Given the description of an element on the screen output the (x, y) to click on. 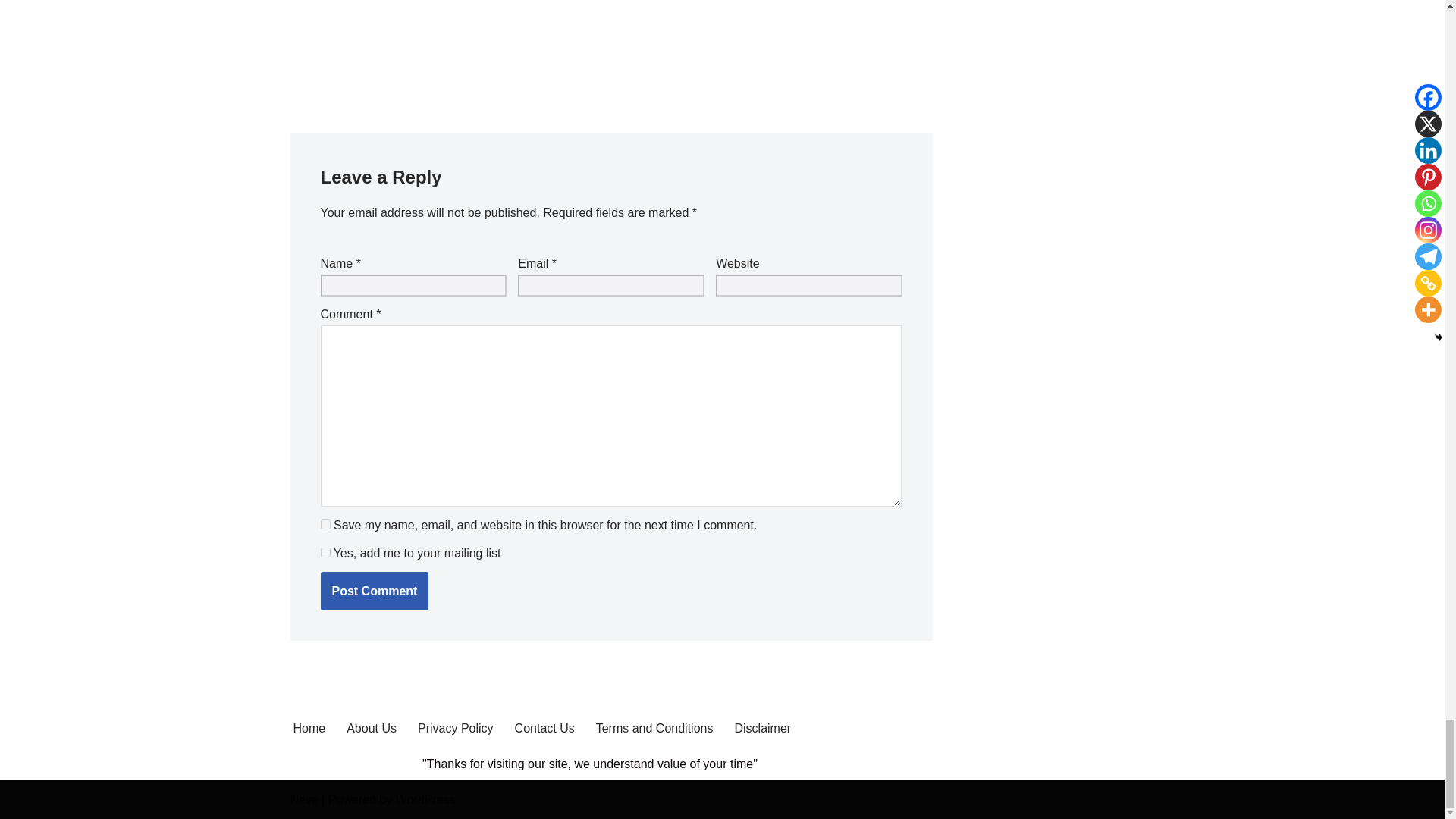
Post Comment (374, 590)
yes (325, 524)
1 (325, 552)
